Given the description of an element on the screen output the (x, y) to click on. 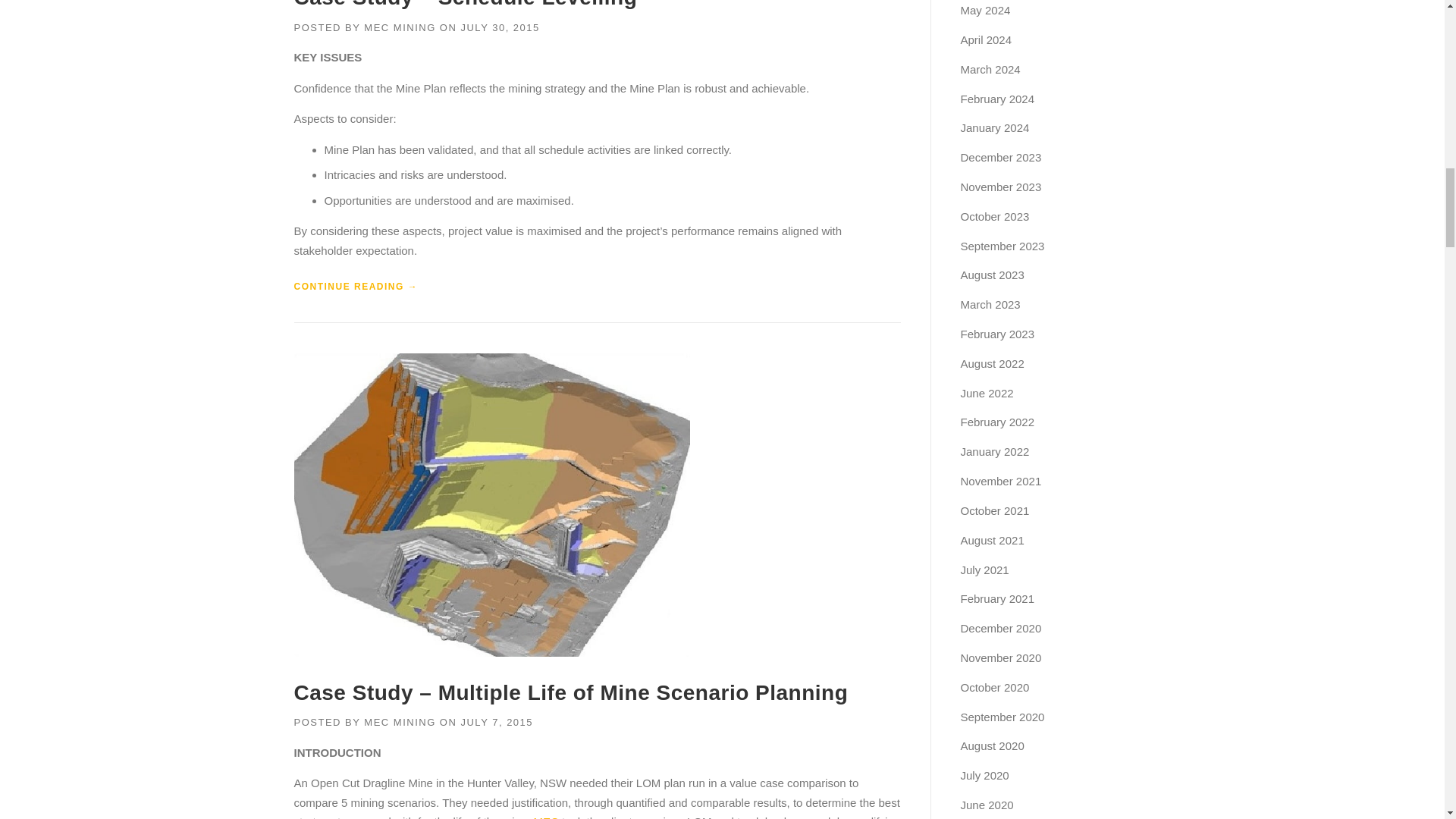
MEC MINING (399, 27)
JULY 30, 2015 (499, 27)
